Given the description of an element on the screen output the (x, y) to click on. 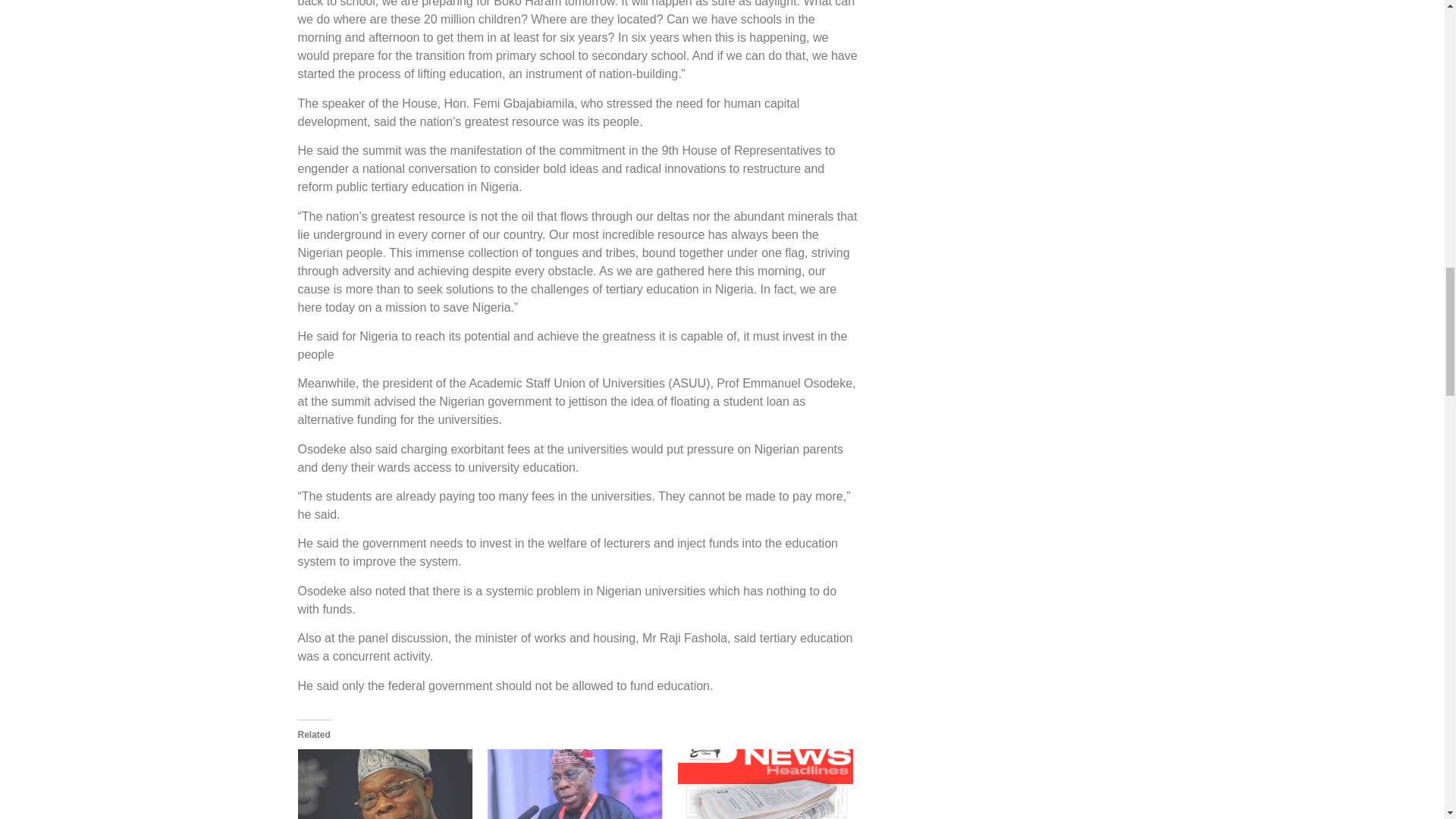
NEWSPAPERS: Top Stories To Read This TUESDAY Morning (765, 784)
